Given the description of an element on the screen output the (x, y) to click on. 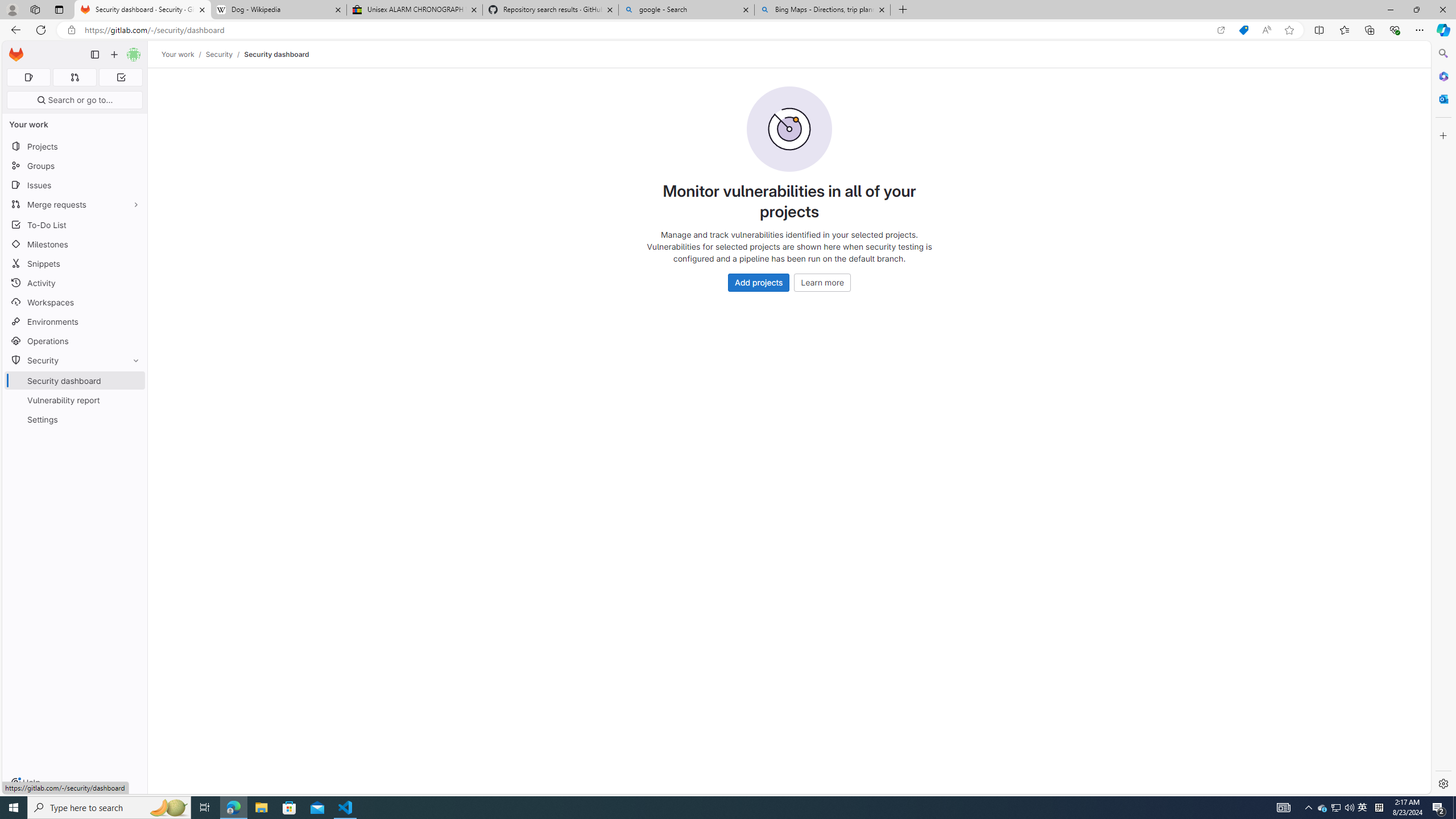
To-Do List (74, 224)
Your work/ (183, 53)
Operations (74, 340)
Milestones (74, 244)
Assigned issues 0 (28, 76)
App bar (728, 29)
Projects (74, 145)
Security dashboard (276, 53)
Homepage (16, 54)
SecuritySecurity dashboardVulnerability reportSettings (74, 389)
Microsoft 365 (1442, 76)
Issues (74, 185)
